Given the description of an element on the screen output the (x, y) to click on. 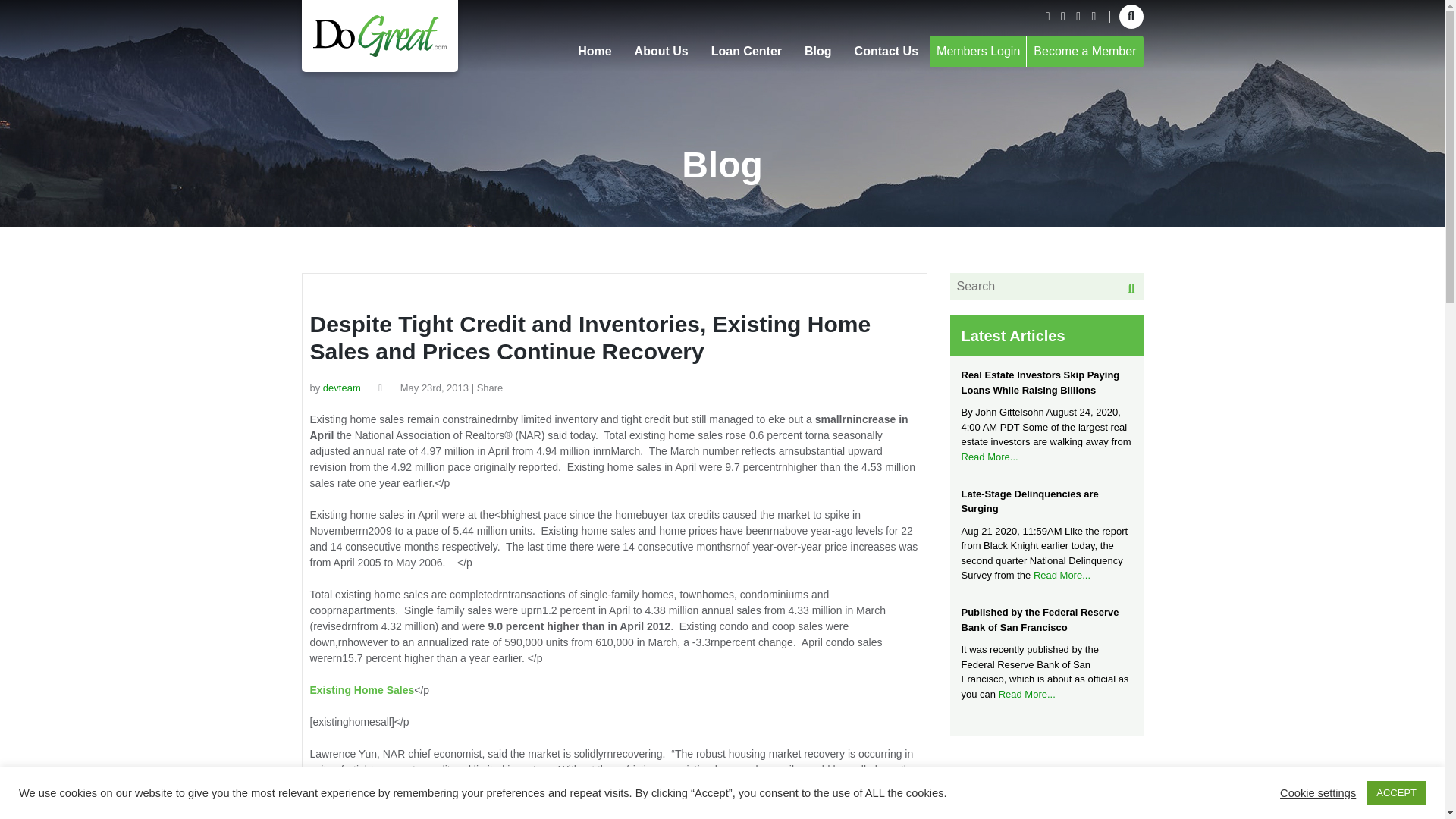
About Us (661, 51)
Loan Center (746, 51)
Blog (818, 51)
Read More... (1026, 694)
Loan Center (746, 51)
Read More... (1061, 575)
About Us (661, 51)
Become a Member (1084, 50)
Read More... (988, 456)
Late-Stage Delinquencies are Surging (1046, 501)
devteam (342, 387)
Home (594, 51)
Members Login (978, 50)
Existing Home Sales (360, 689)
